Given the description of an element on the screen output the (x, y) to click on. 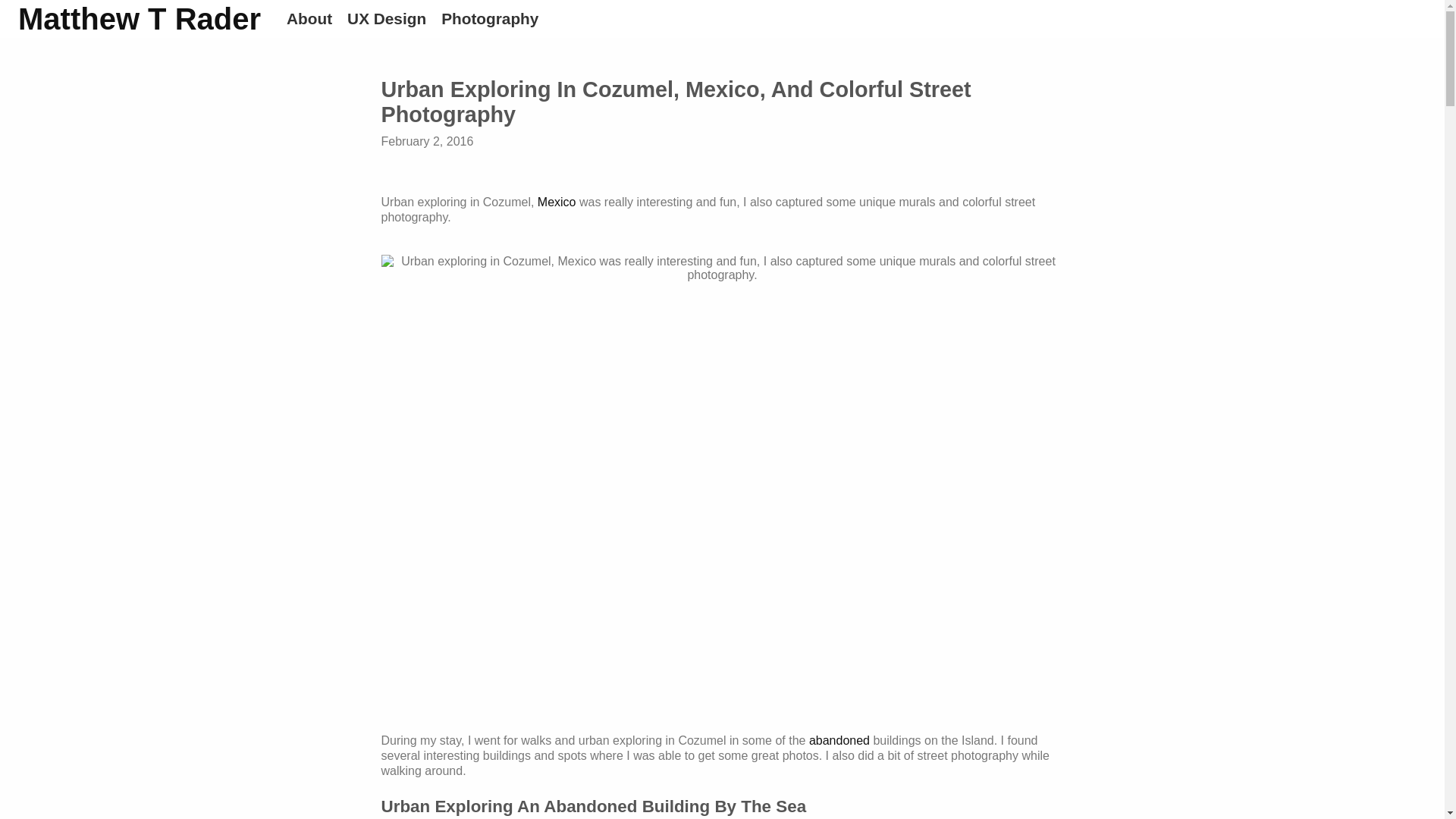
Matthew T Rader (138, 19)
Mexico (556, 201)
abandoned (839, 739)
Photography (497, 18)
UX Design (394, 18)
Search (32, 12)
About (316, 18)
